Given the description of an element on the screen output the (x, y) to click on. 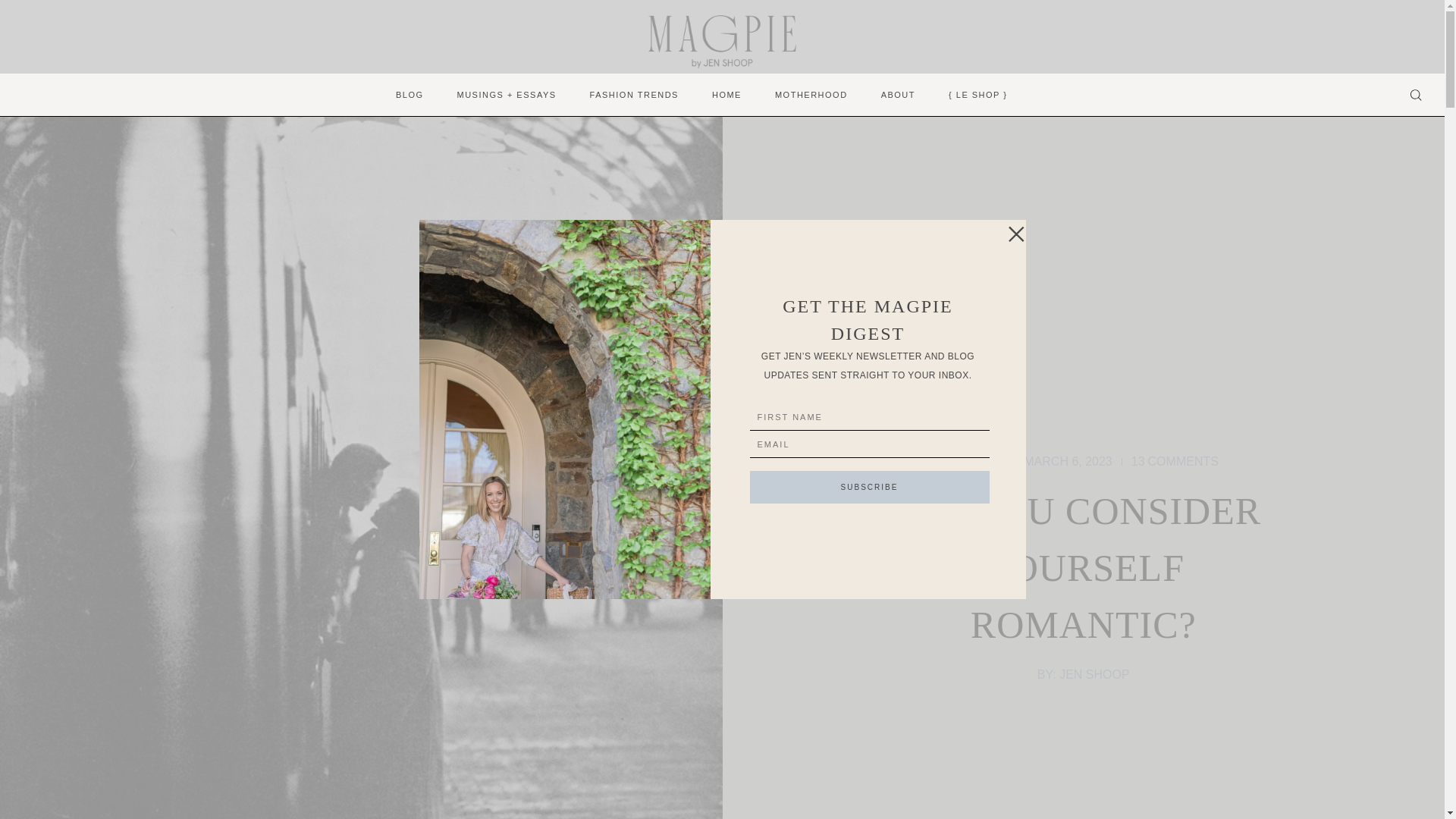
Subscribe (868, 486)
FASHION TRENDS (633, 95)
MOTHERHOOD (810, 95)
MUSINGS (1174, 461)
